Given the description of an element on the screen output the (x, y) to click on. 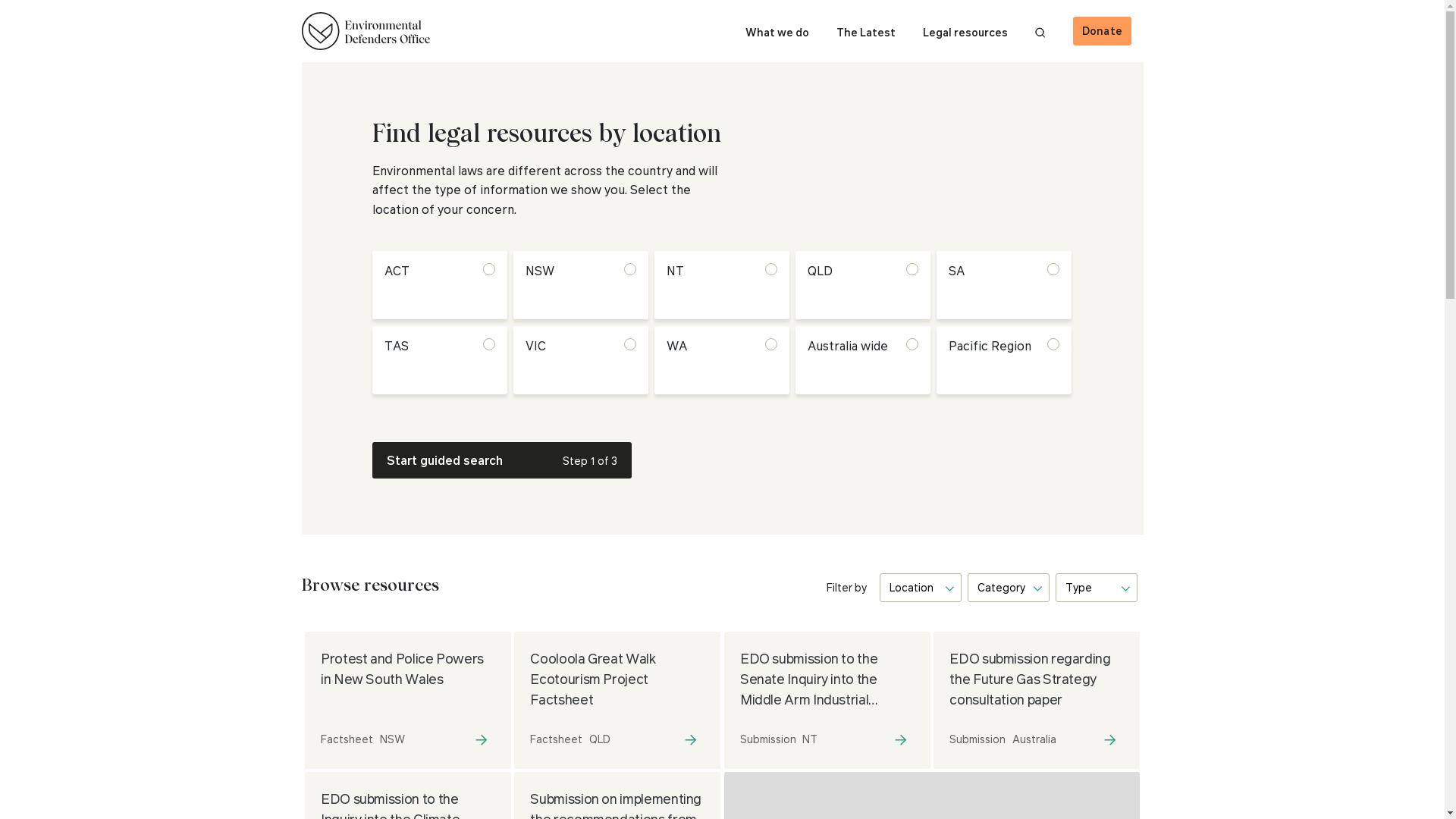
Donate Element type: text (1102, 30)
Protest and Police Powers in New South Wales
FactsheetNSW Element type: text (407, 699)
What we do Element type: text (777, 31)
NSW Element type: text (391, 738)
Submission Element type: text (977, 738)
Start guided search
Step 1 of 3 Element type: text (500, 460)
Submission Element type: text (768, 738)
Factsheet Element type: text (556, 738)
QLD Element type: text (599, 738)
Australia Element type: text (1034, 738)
Factsheet Element type: text (346, 738)
Legal resources Element type: text (964, 31)
Environmental Defenders Office Element type: text (365, 31)
The Latest Element type: text (865, 31)
NT Element type: text (809, 738)
